Given the description of an element on the screen output the (x, y) to click on. 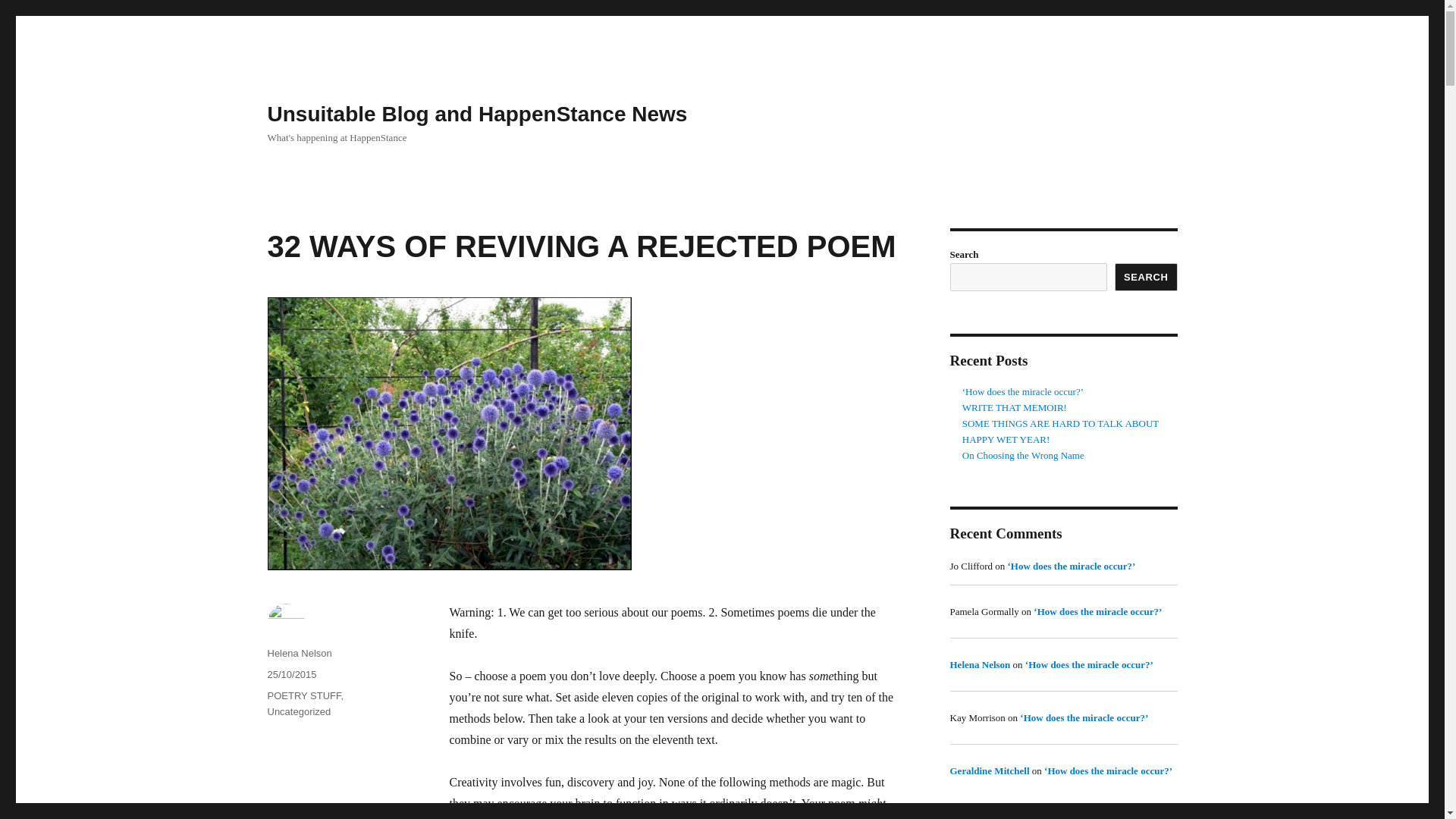
Unsuitable Blog and HappenStance News (476, 114)
POETRY STUFF (303, 695)
Helena Nelson (298, 653)
Uncategorized (298, 711)
